Given the description of an element on the screen output the (x, y) to click on. 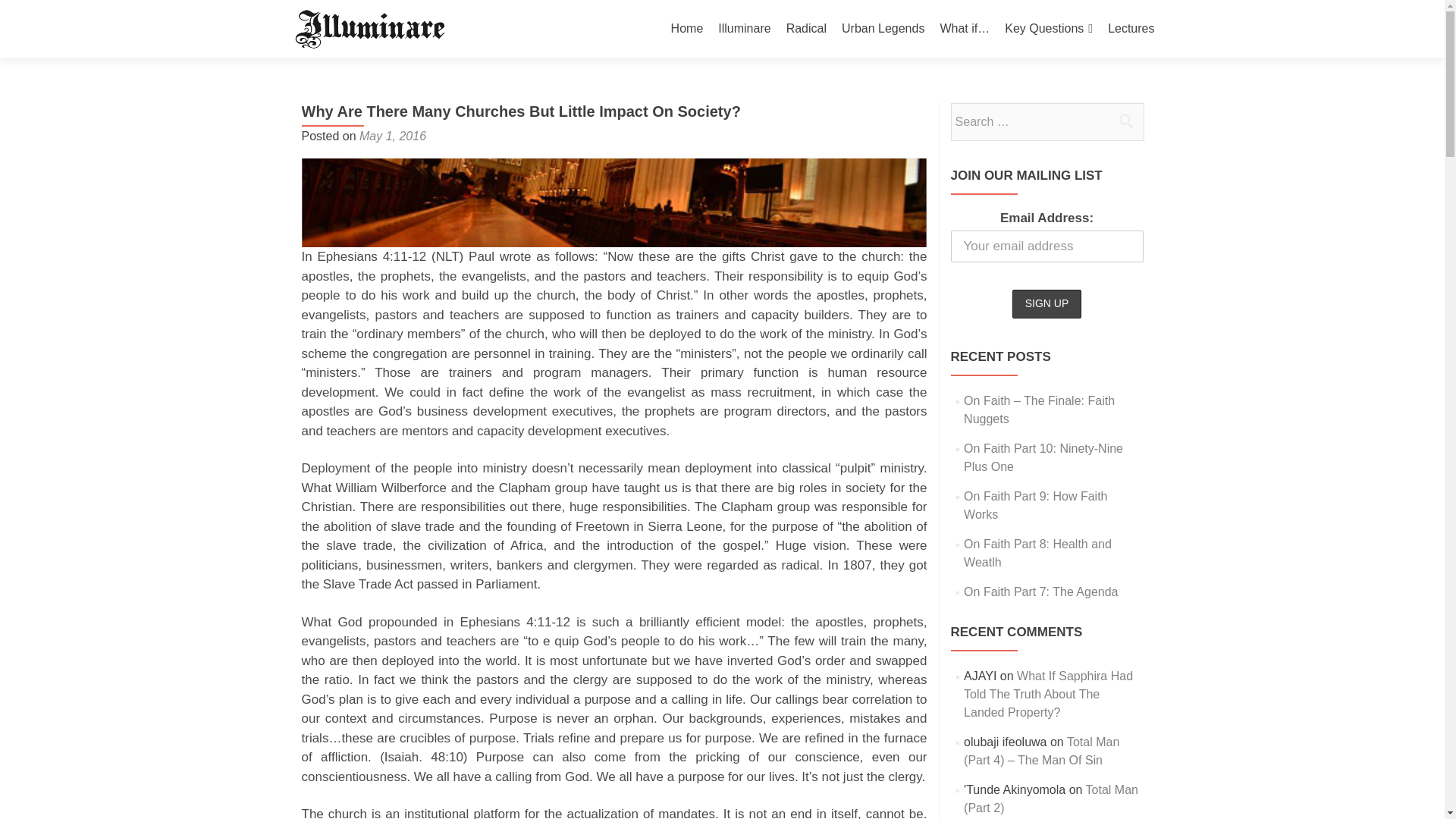
Search (1125, 120)
Search (1125, 120)
Key Questions (1048, 28)
May 1, 2016 (392, 135)
Search (1125, 120)
Sign up (1046, 303)
Lectures (1131, 28)
Illuminare (743, 28)
On Faith Part 10: Ninety-Nine Plus One (1042, 457)
Home (687, 28)
Radical (806, 28)
Sign up (1046, 303)
Urban Legends (882, 28)
